Given the description of an element on the screen output the (x, y) to click on. 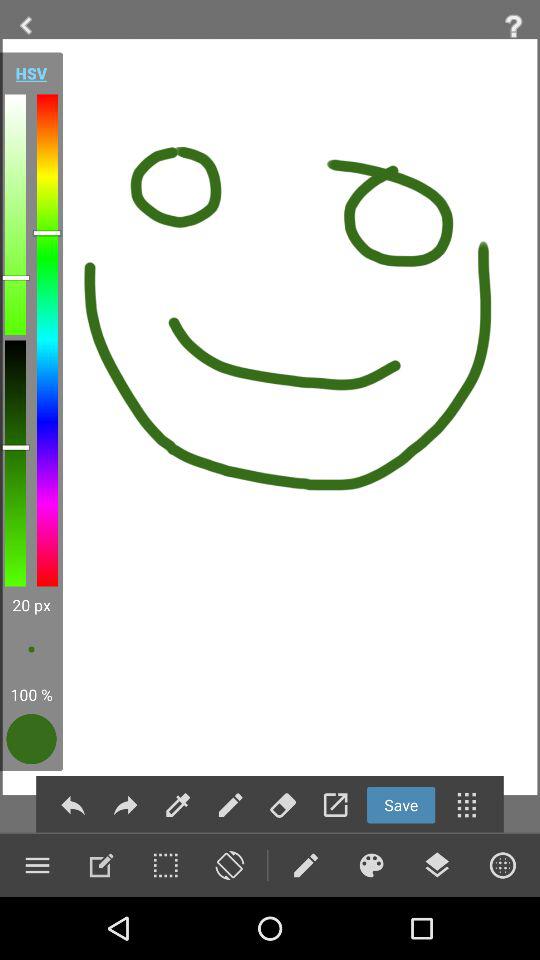
additional options menu (466, 804)
